Given the description of an element on the screen output the (x, y) to click on. 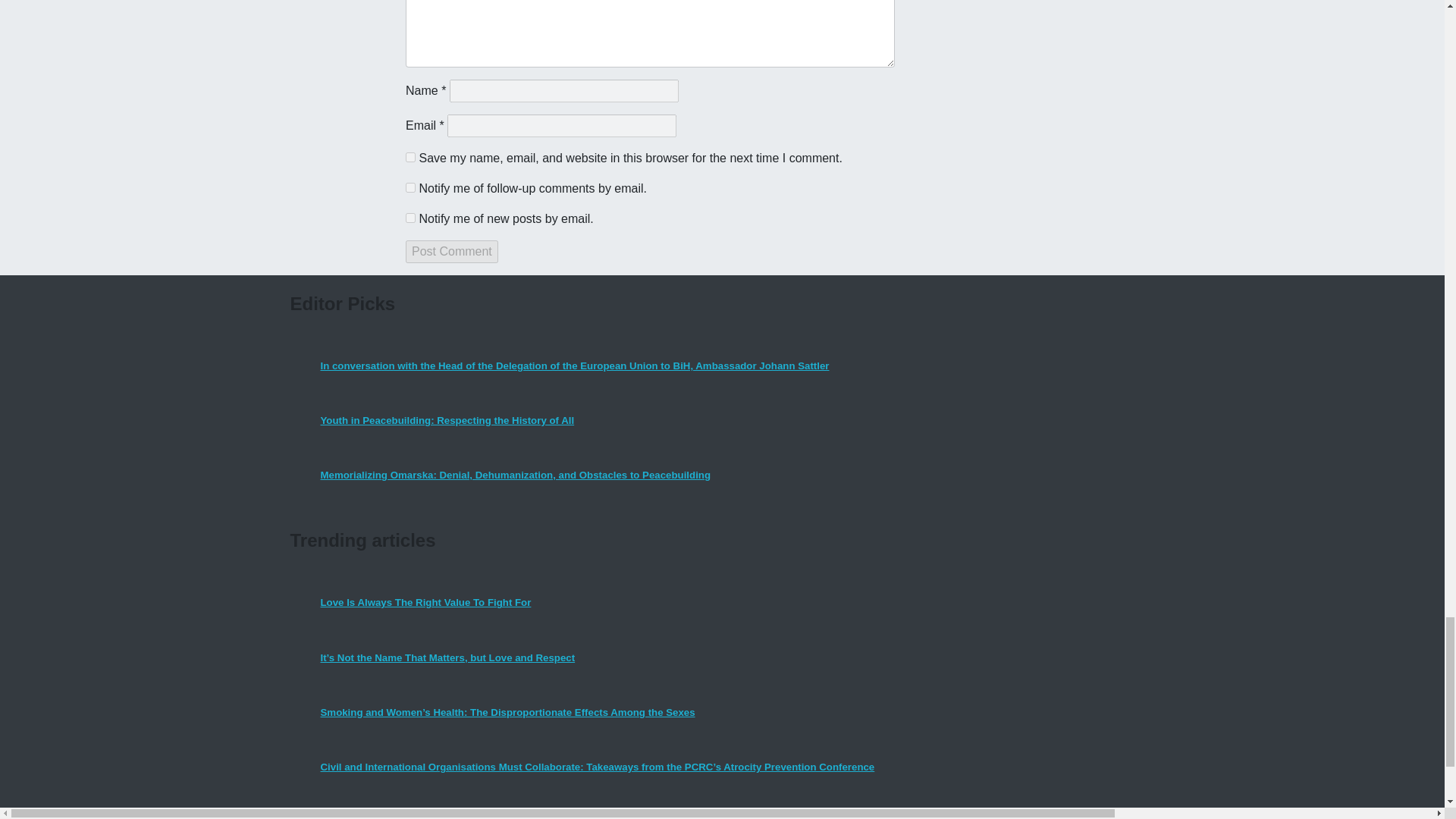
yes (410, 157)
Post Comment (451, 251)
subscribe (410, 217)
subscribe (410, 187)
